Given the description of an element on the screen output the (x, y) to click on. 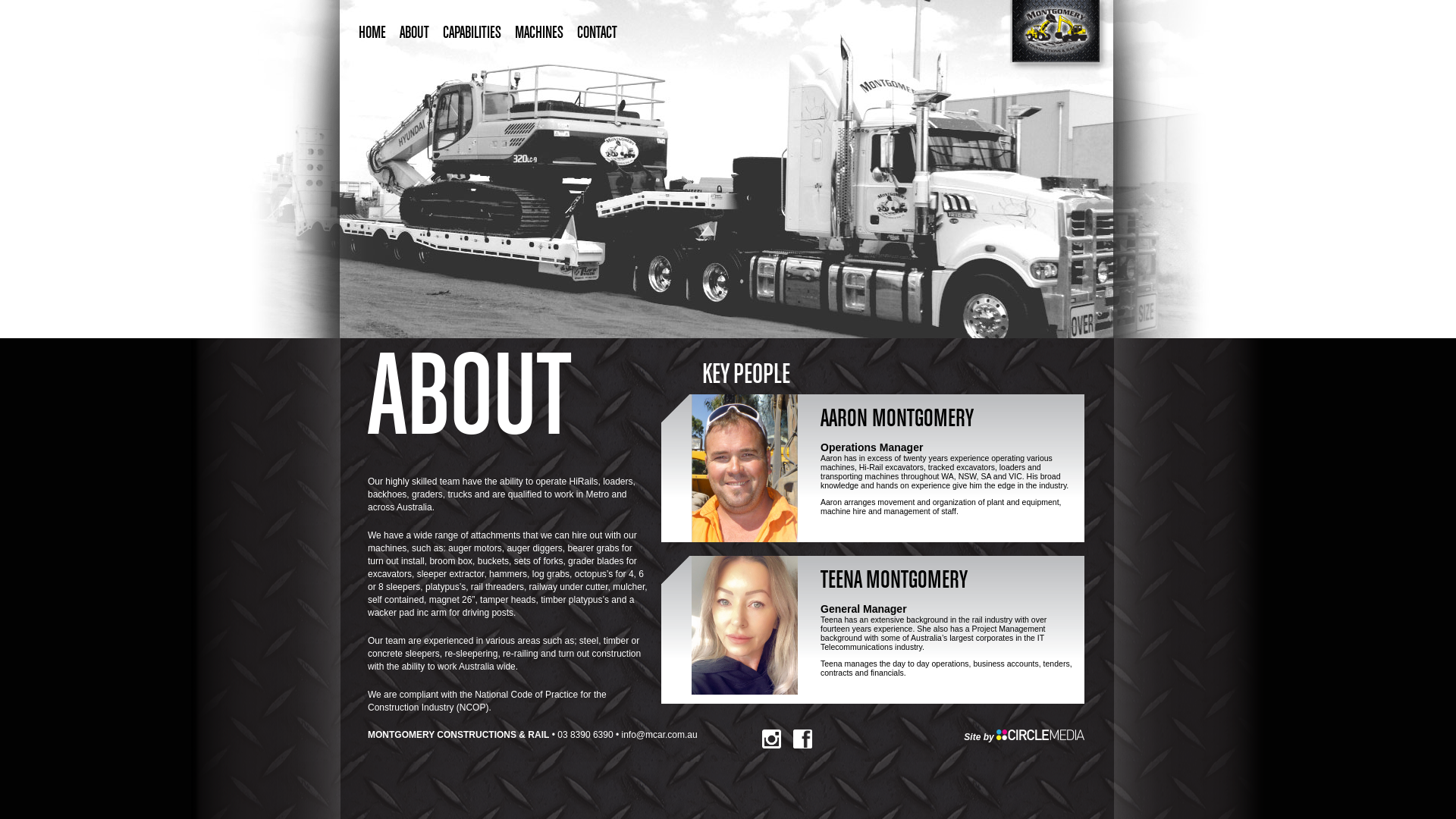
HOME Element type: text (371, 33)
info@mcar.com.au Element type: text (659, 734)
CAPABILITIES Element type: text (471, 33)
ABOUT Element type: text (414, 33)
CONTACT Element type: text (597, 33)
03 8390 6390 Element type: text (584, 734)
MACHINES Element type: text (538, 33)
